Given the description of an element on the screen output the (x, y) to click on. 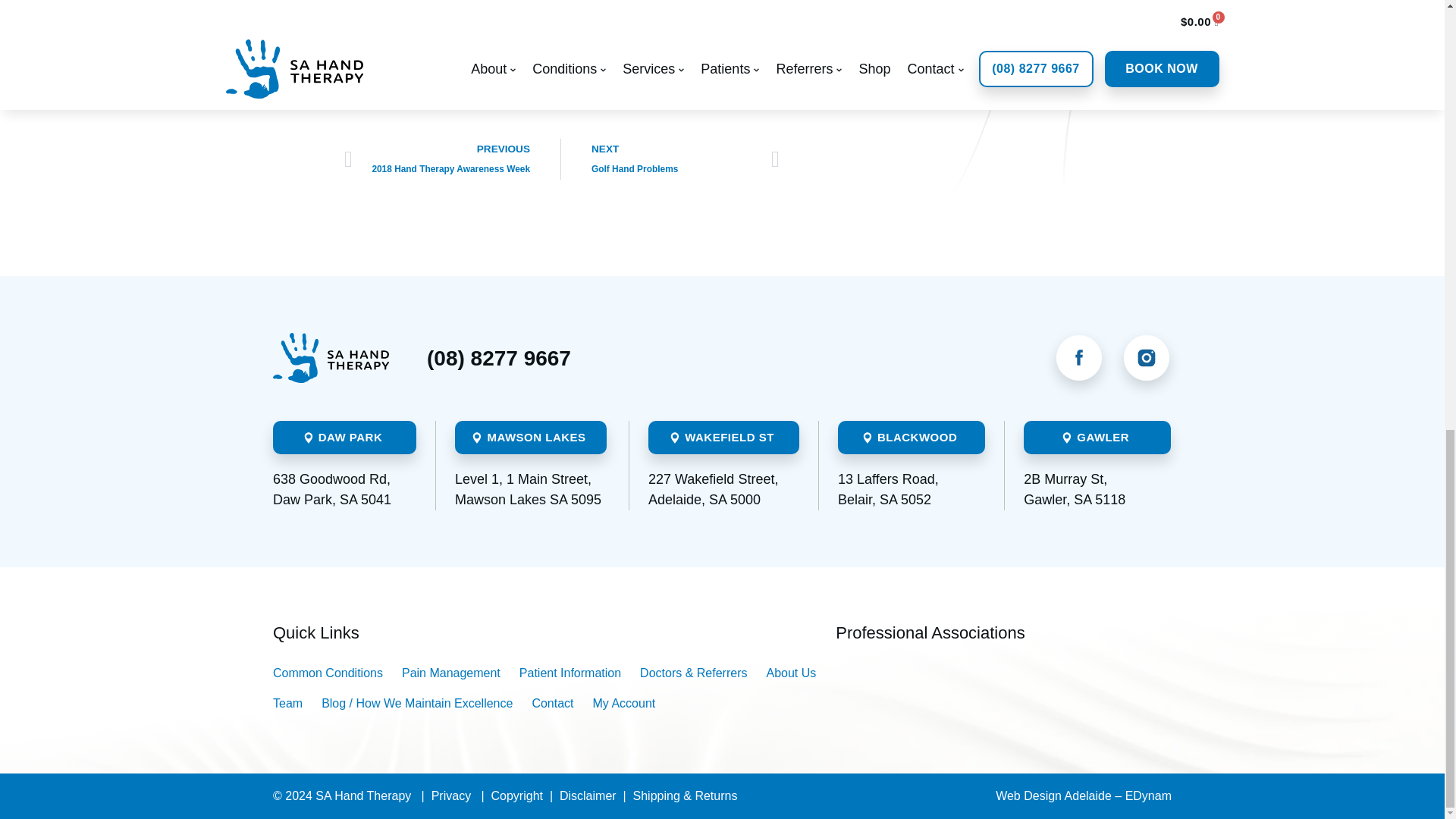
Web Design Adelaide (1083, 795)
